Given the description of an element on the screen output the (x, y) to click on. 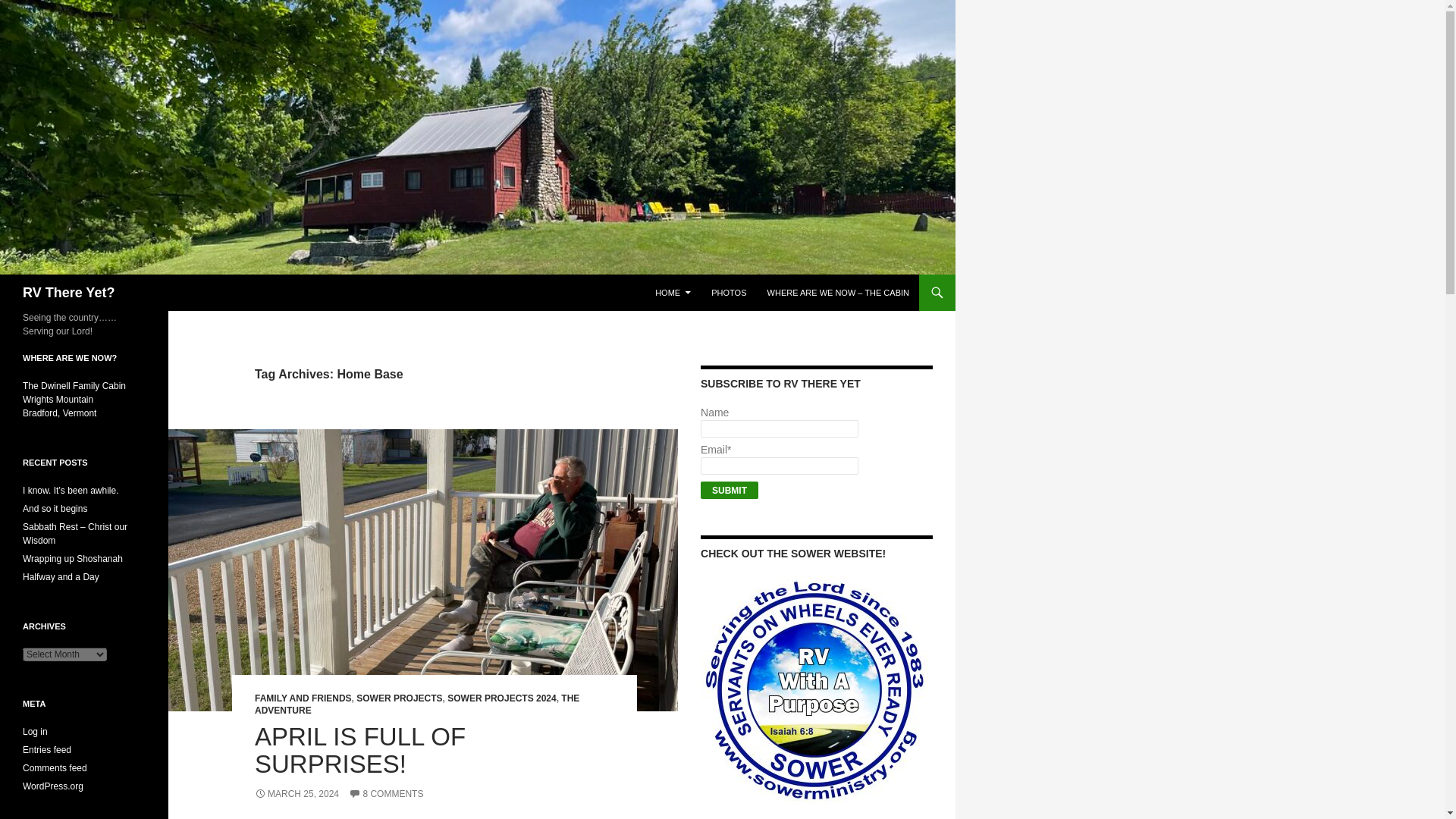
PHOTOS (728, 292)
Submit (729, 489)
APRIL IS FULL OF SURPRISES! (359, 750)
Check out the SOWER Website! (814, 689)
SOWER PROJECTS (399, 697)
Submit (729, 489)
HOME (673, 292)
MARCH 25, 2024 (296, 793)
RV There Yet? (69, 292)
8 COMMENTS (386, 793)
SOWER PROJECTS 2024 (501, 697)
FAMILY AND FRIENDS (303, 697)
THE ADVENTURE (416, 703)
